Given the description of an element on the screen output the (x, y) to click on. 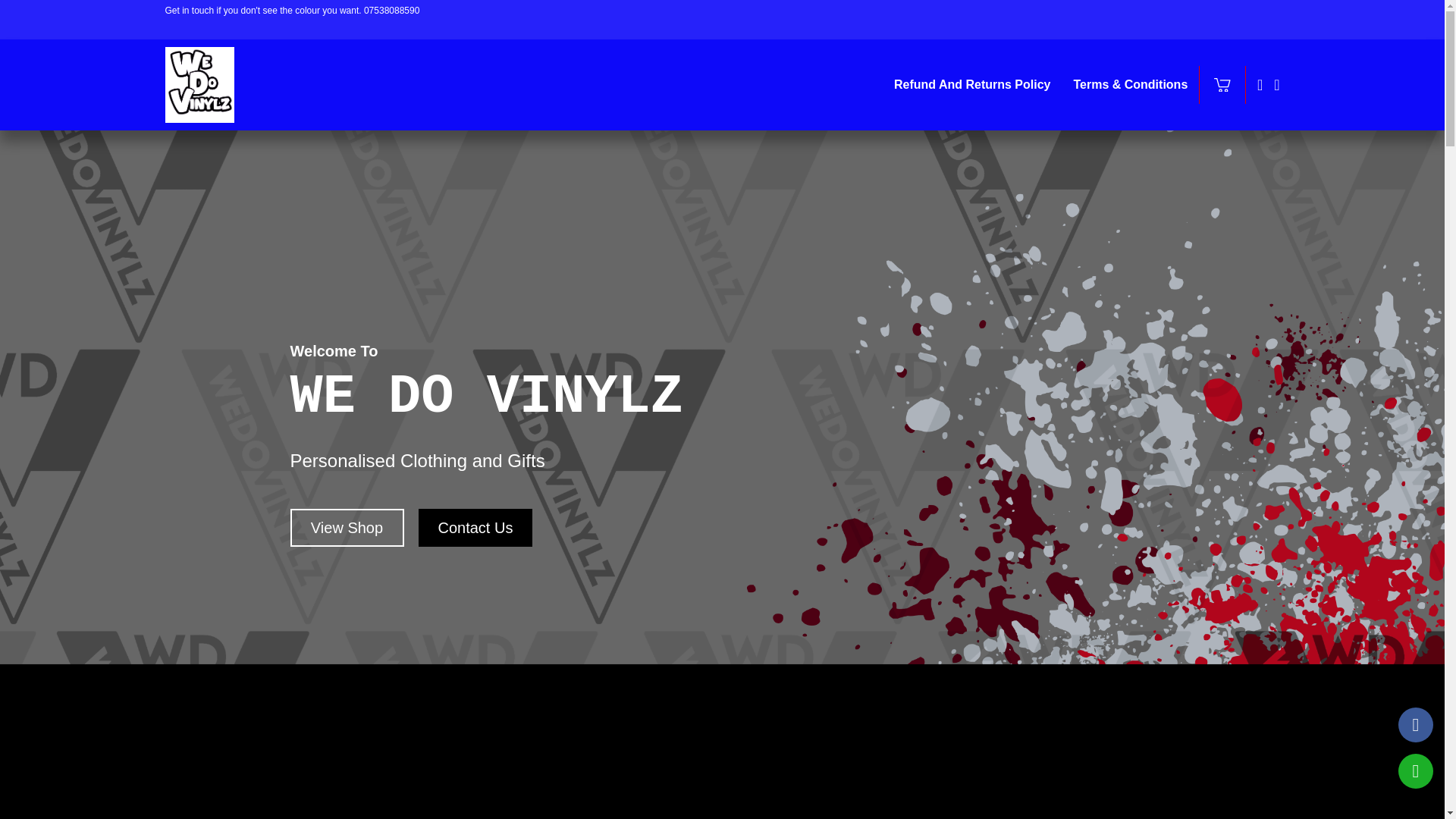
View Shop (346, 527)
Contact Us (475, 527)
Refund And Returns Policy (972, 84)
